Given the description of an element on the screen output the (x, y) to click on. 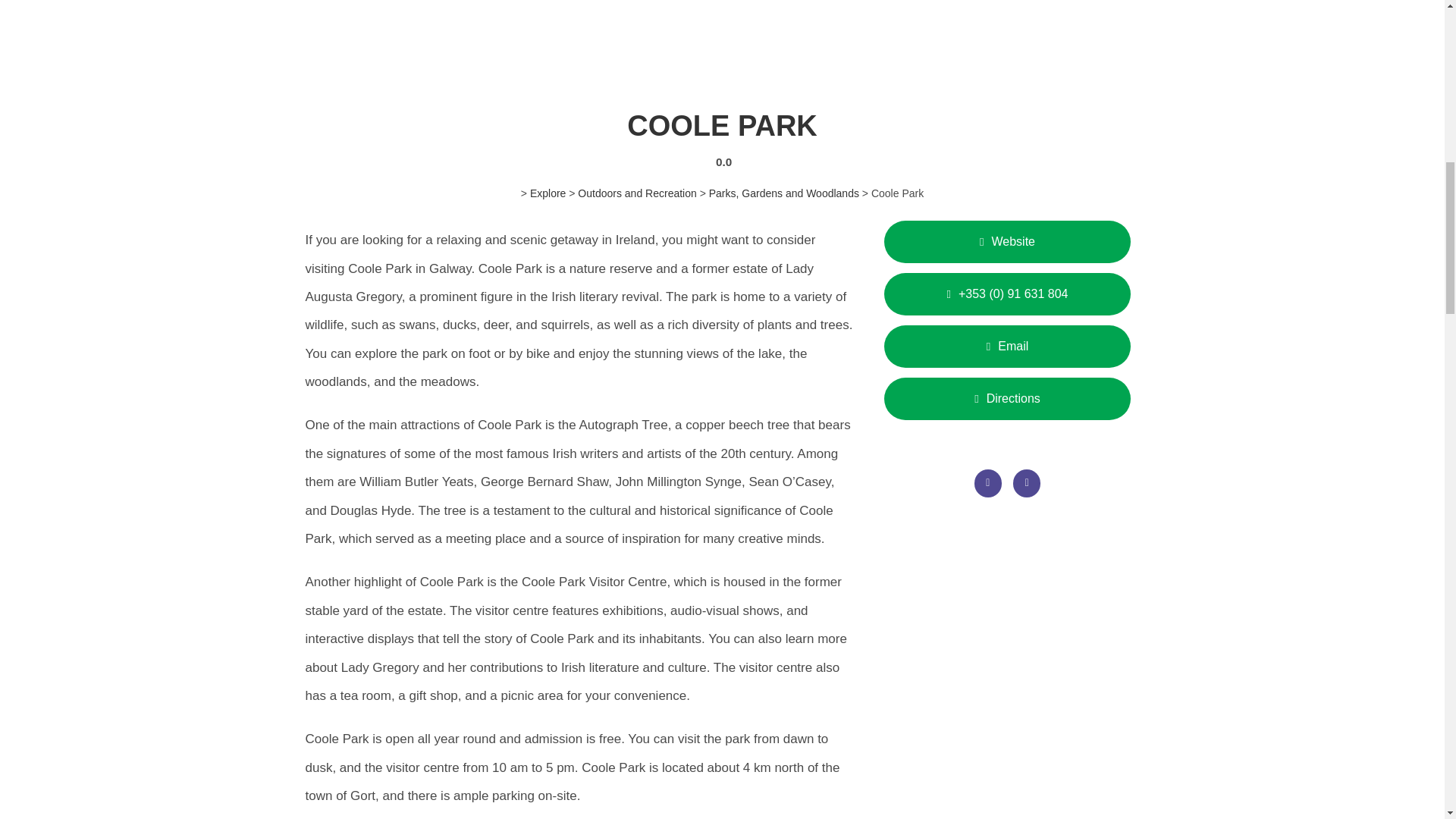
Go to Parks, Gardens and Woodlands. (784, 193)
Go to Outdoors and Recreation. (636, 193)
Go to Explore. (547, 193)
